Given the description of an element on the screen output the (x, y) to click on. 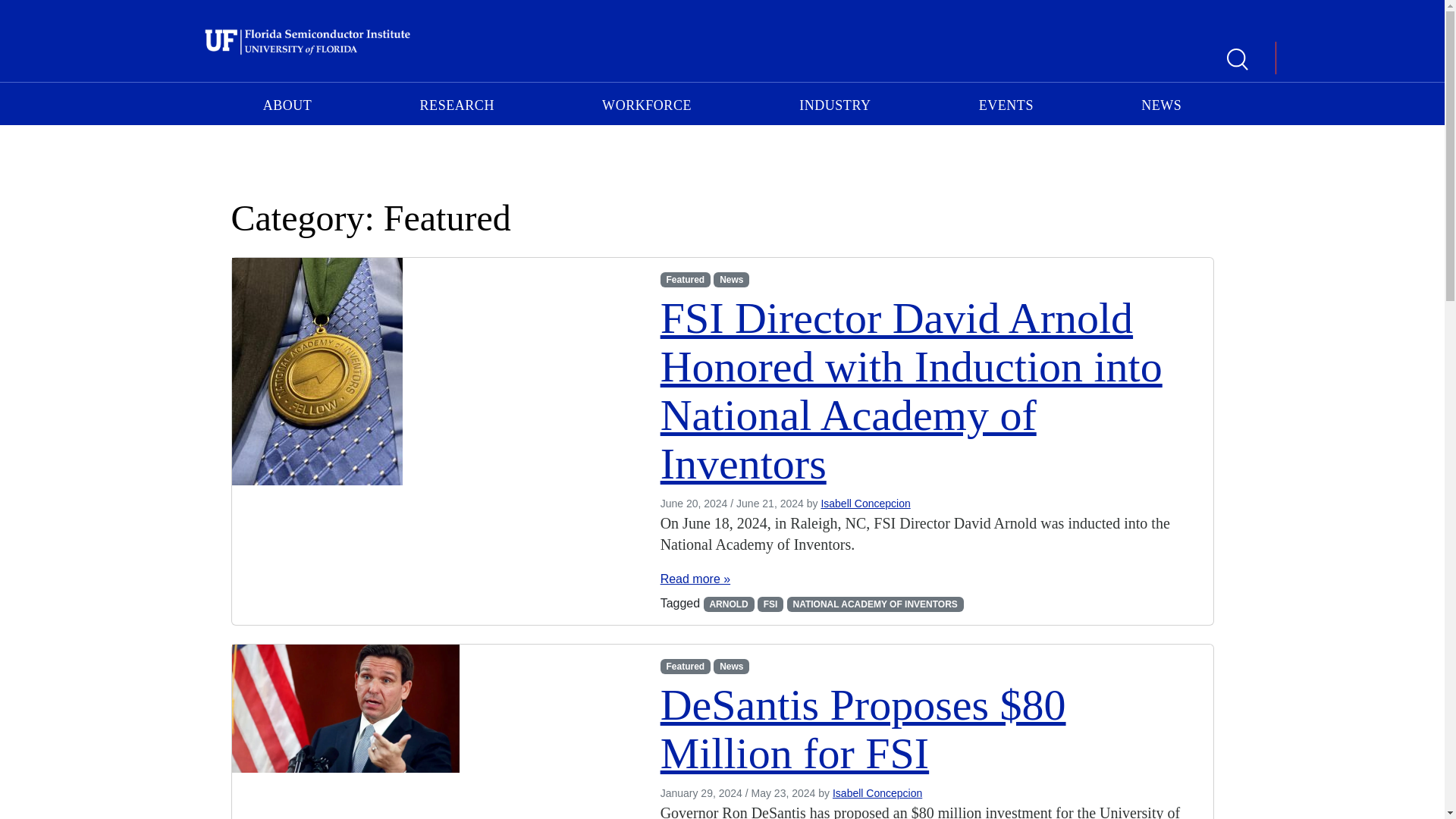
FSI (770, 604)
Isabell Concepcion (865, 503)
ABOUT (287, 102)
Featured (685, 279)
News (731, 666)
Isabell Concepcion (876, 793)
INDUSTRY (834, 102)
NEWS (1161, 102)
News (731, 279)
WORKFORCE (646, 102)
RESEARCH (456, 102)
NATIONAL ACADEMY OF INVENTORS (875, 604)
Featured (685, 666)
EVENTS (1005, 102)
